Given the description of an element on the screen output the (x, y) to click on. 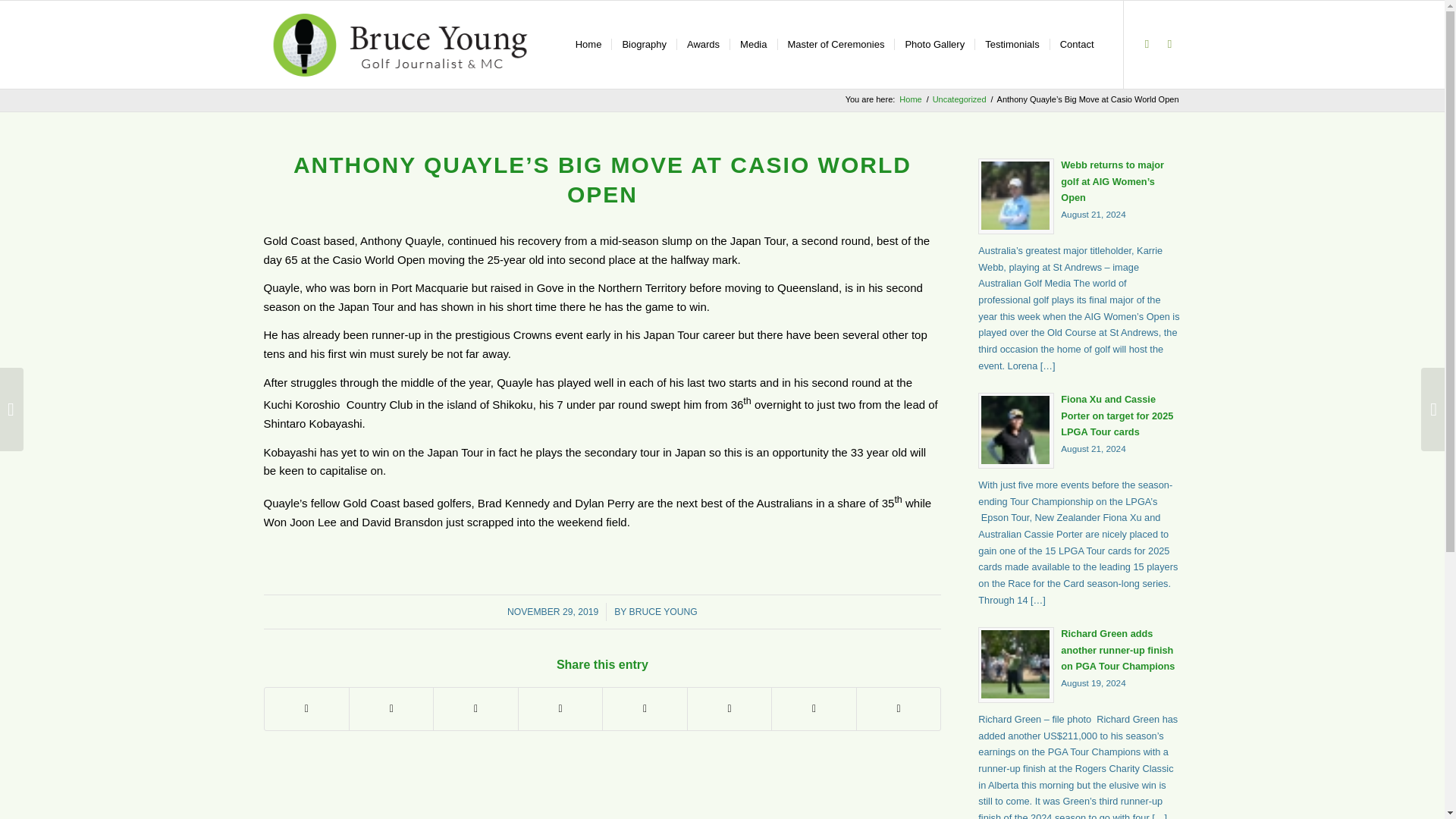
Photo Gallery (933, 44)
LinkedIn (1169, 43)
Master of Ceremonies (834, 44)
Home (909, 99)
Posts by Bruce Young (662, 611)
Uncategorized (959, 99)
BRUCE YOUNG (662, 611)
Youtube (1146, 43)
